Given the description of an element on the screen output the (x, y) to click on. 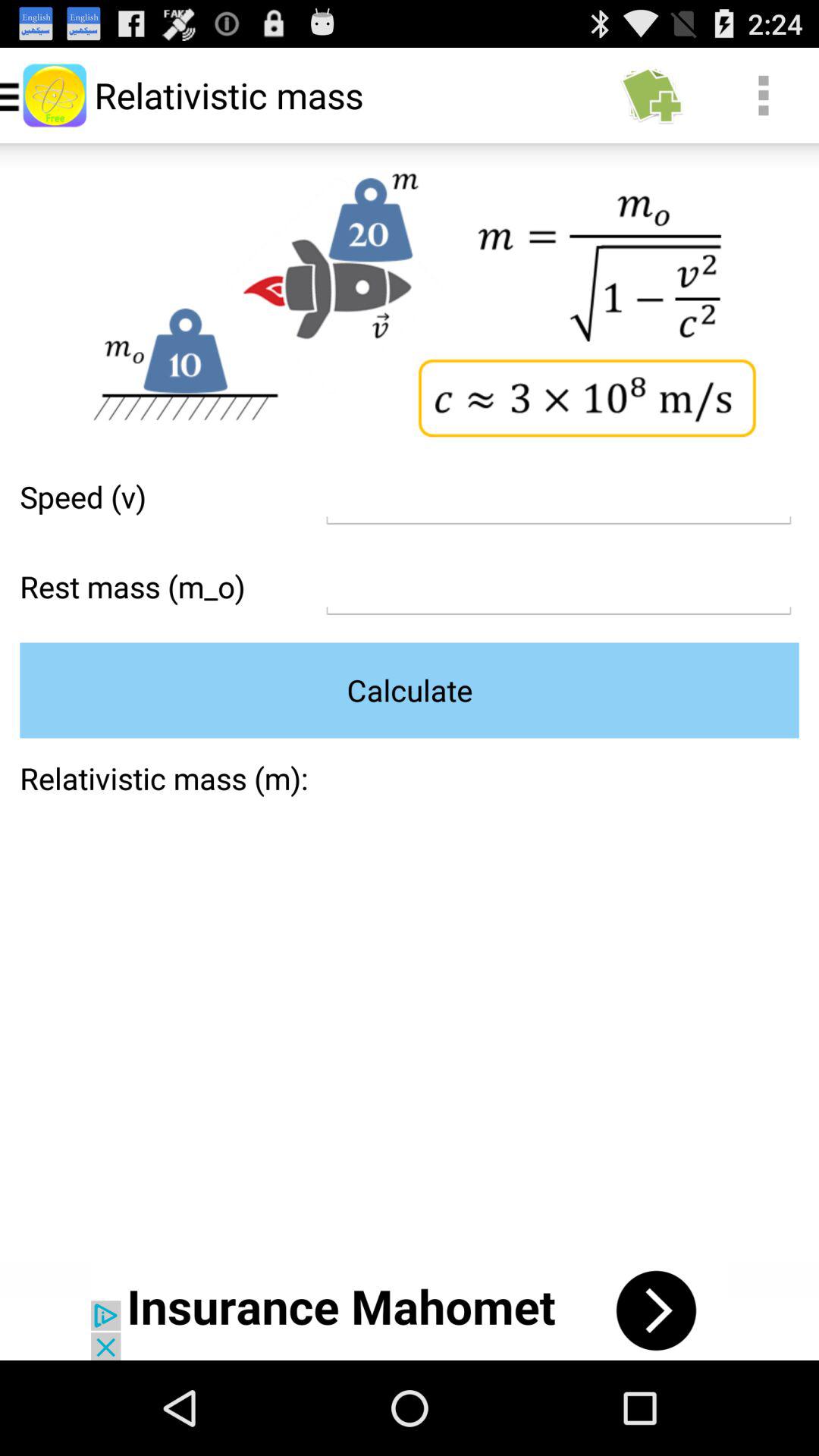
insurance add (409, 1310)
